Given the description of an element on the screen output the (x, y) to click on. 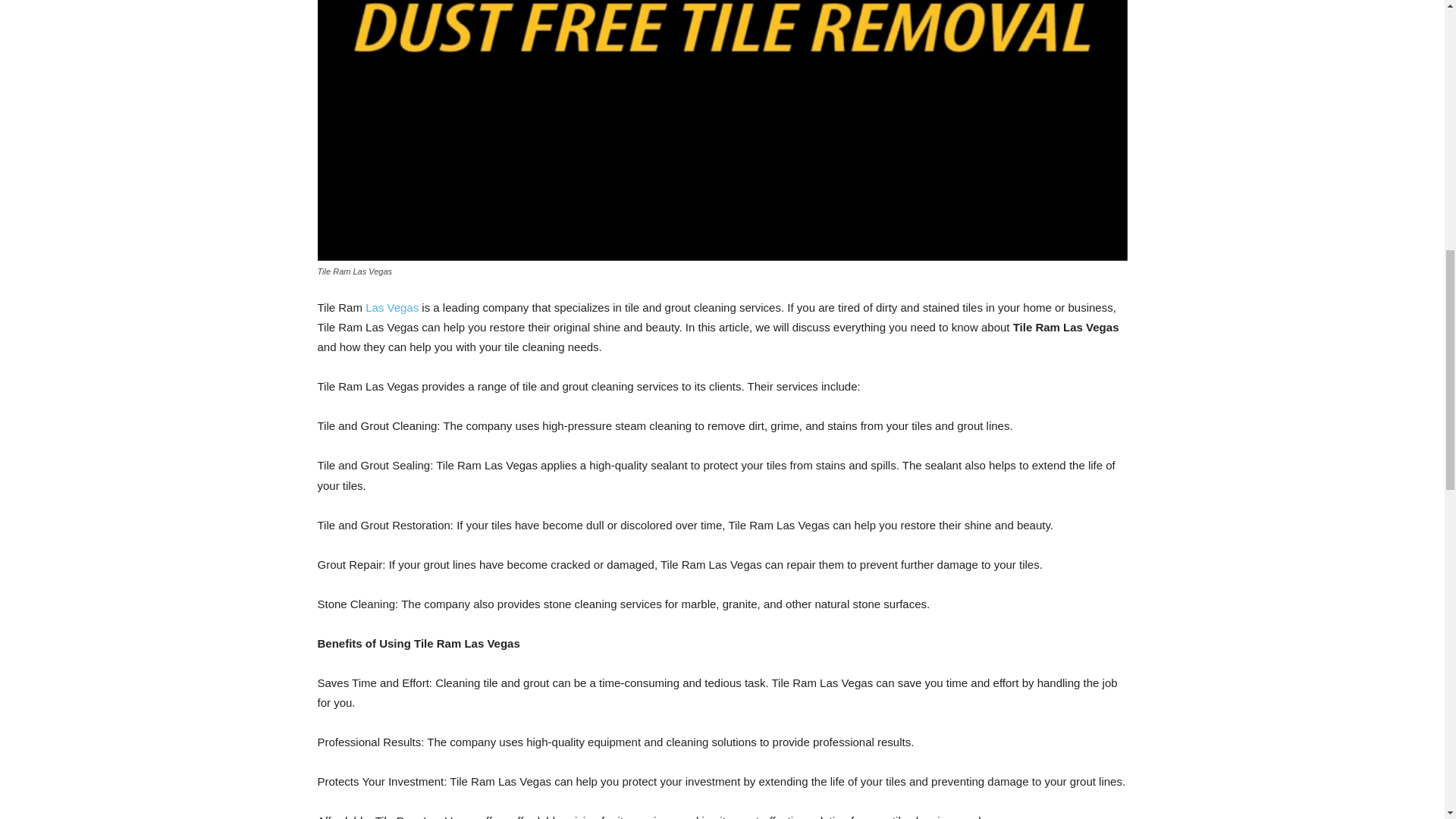
Las Vegas (393, 307)
